Given the description of an element on the screen output the (x, y) to click on. 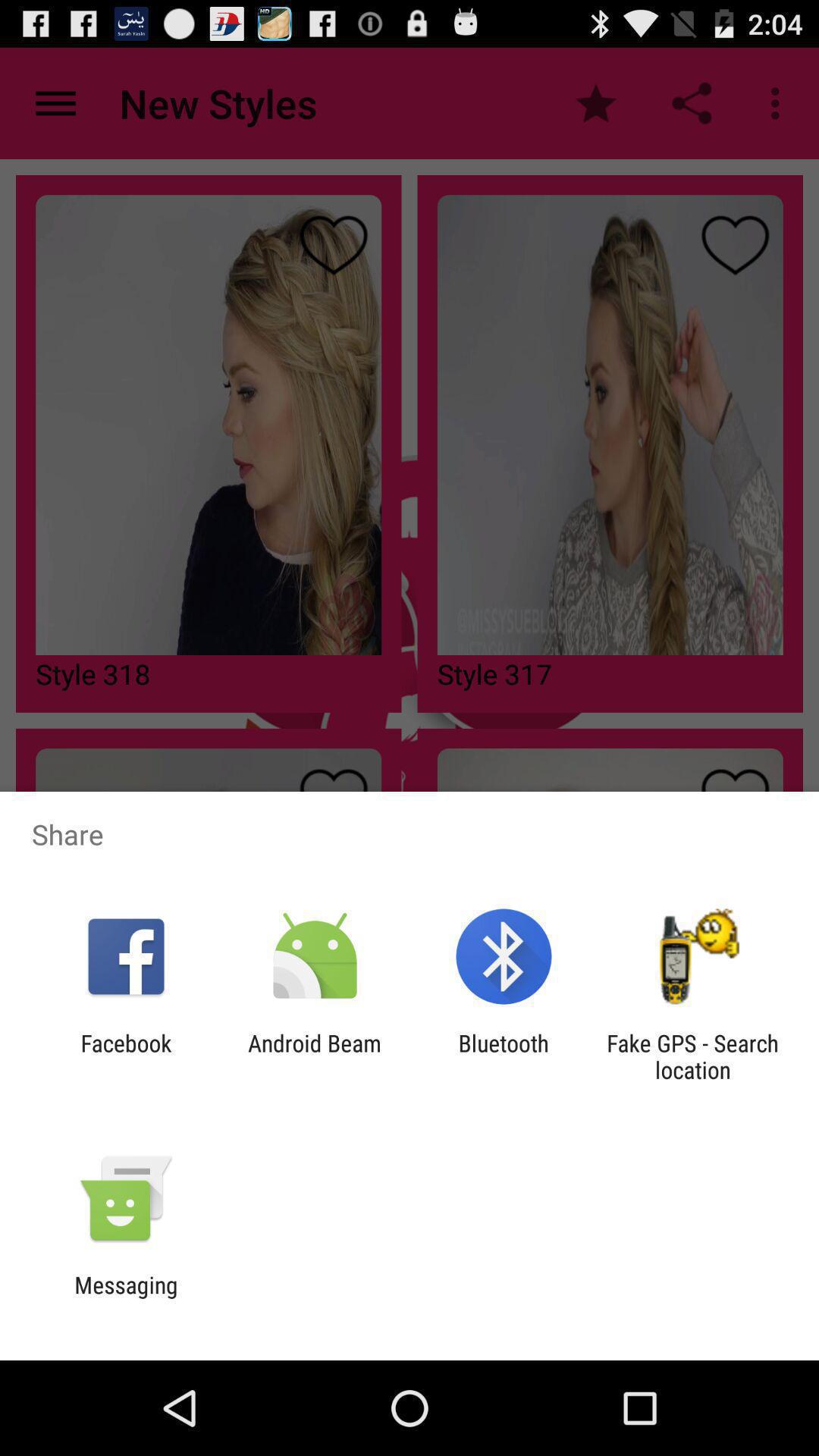
click icon to the left of bluetooth app (314, 1056)
